Given the description of an element on the screen output the (x, y) to click on. 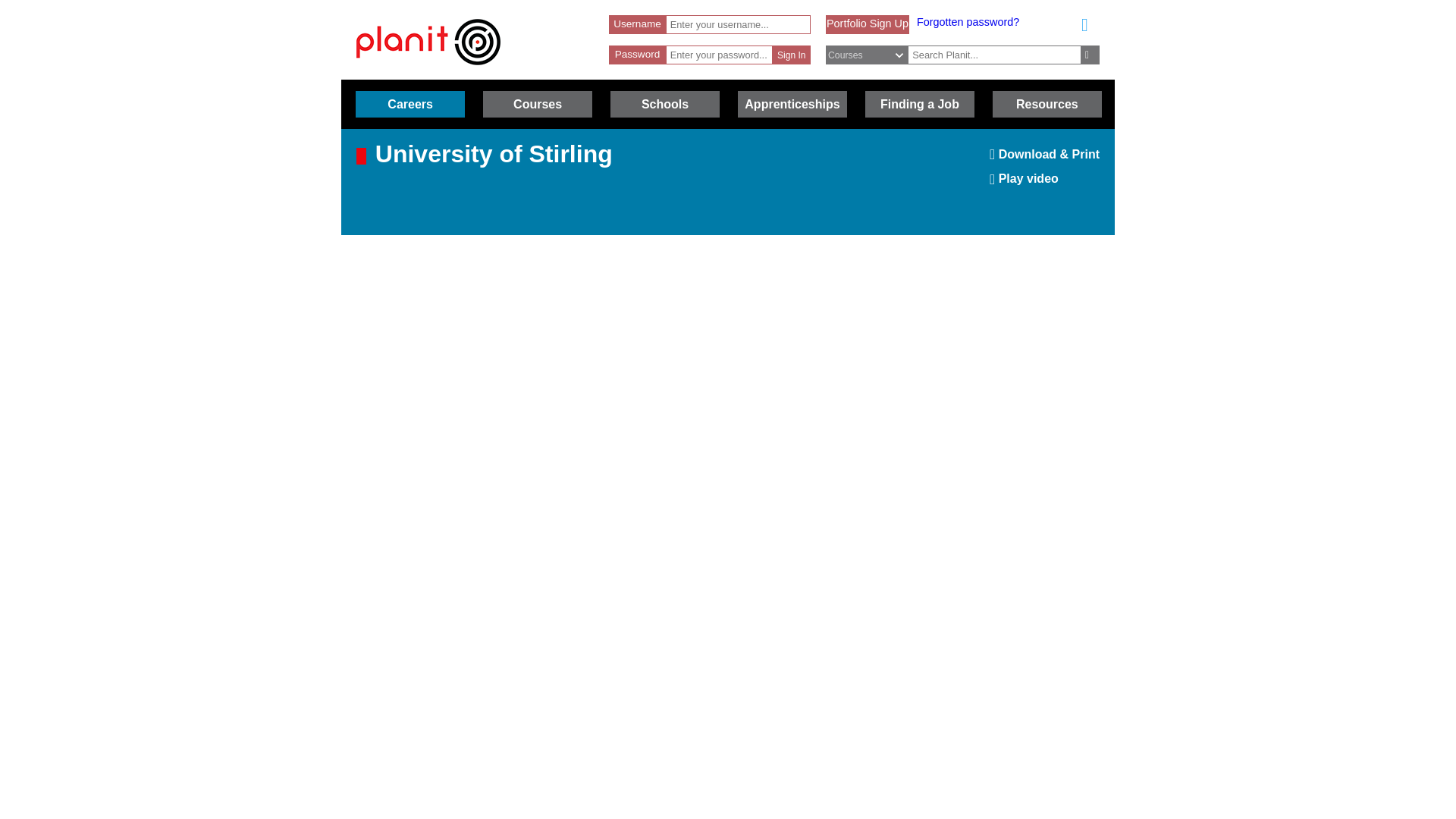
Sign In (790, 54)
Resources (1047, 103)
Portfolio Sign Up (867, 23)
Portfolio Sign Up (867, 23)
Enter text to search Planit (994, 54)
Forgotten password? (968, 21)
Sign In (790, 54)
Search (1090, 54)
Courses (537, 103)
Careers (410, 103)
Planit (428, 41)
Select search type (874, 54)
Planit Home (428, 72)
